Given the description of an element on the screen output the (x, y) to click on. 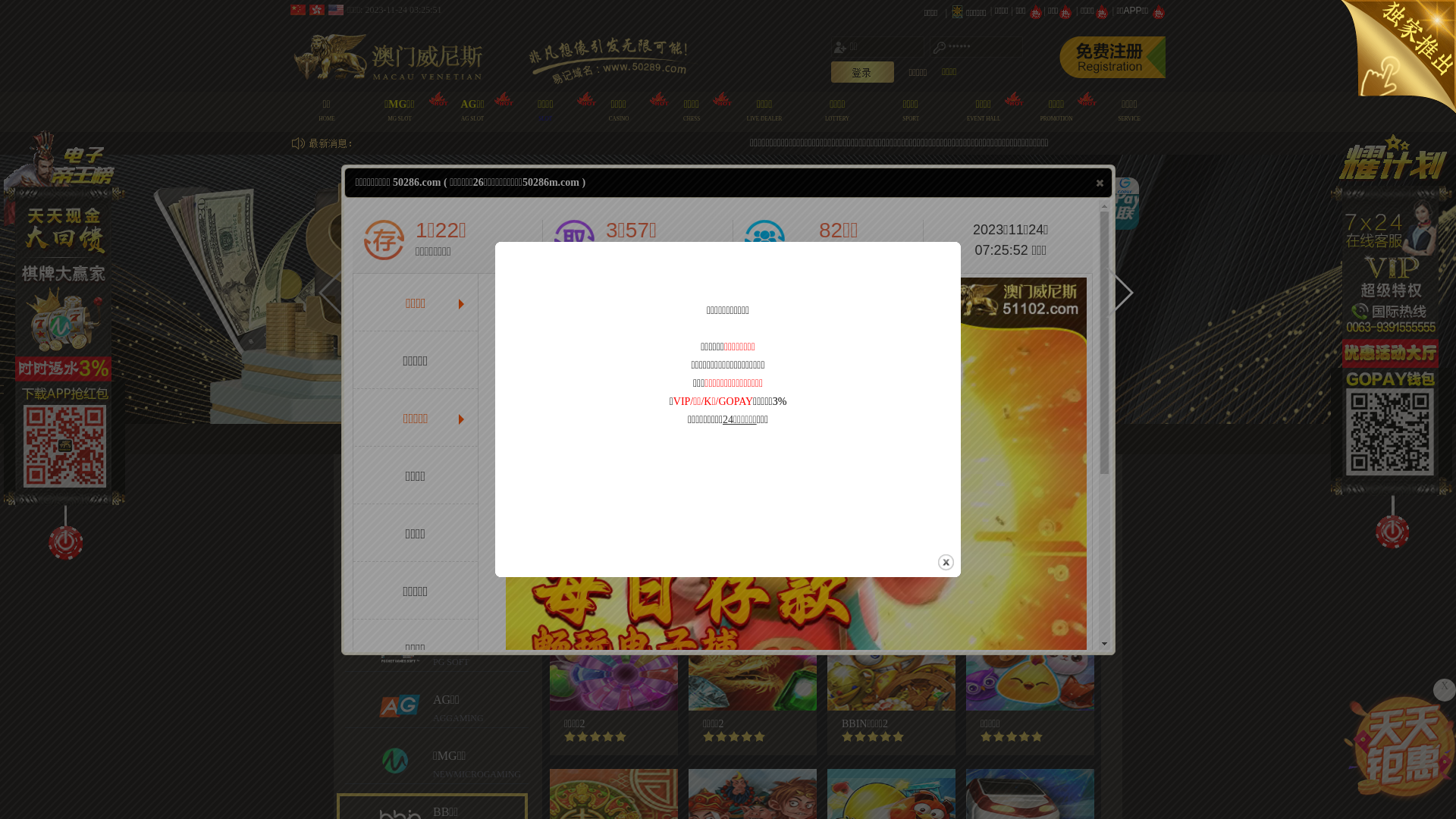
close Element type: text (1099, 182)
close Element type: text (945, 561)
